Given the description of an element on the screen output the (x, y) to click on. 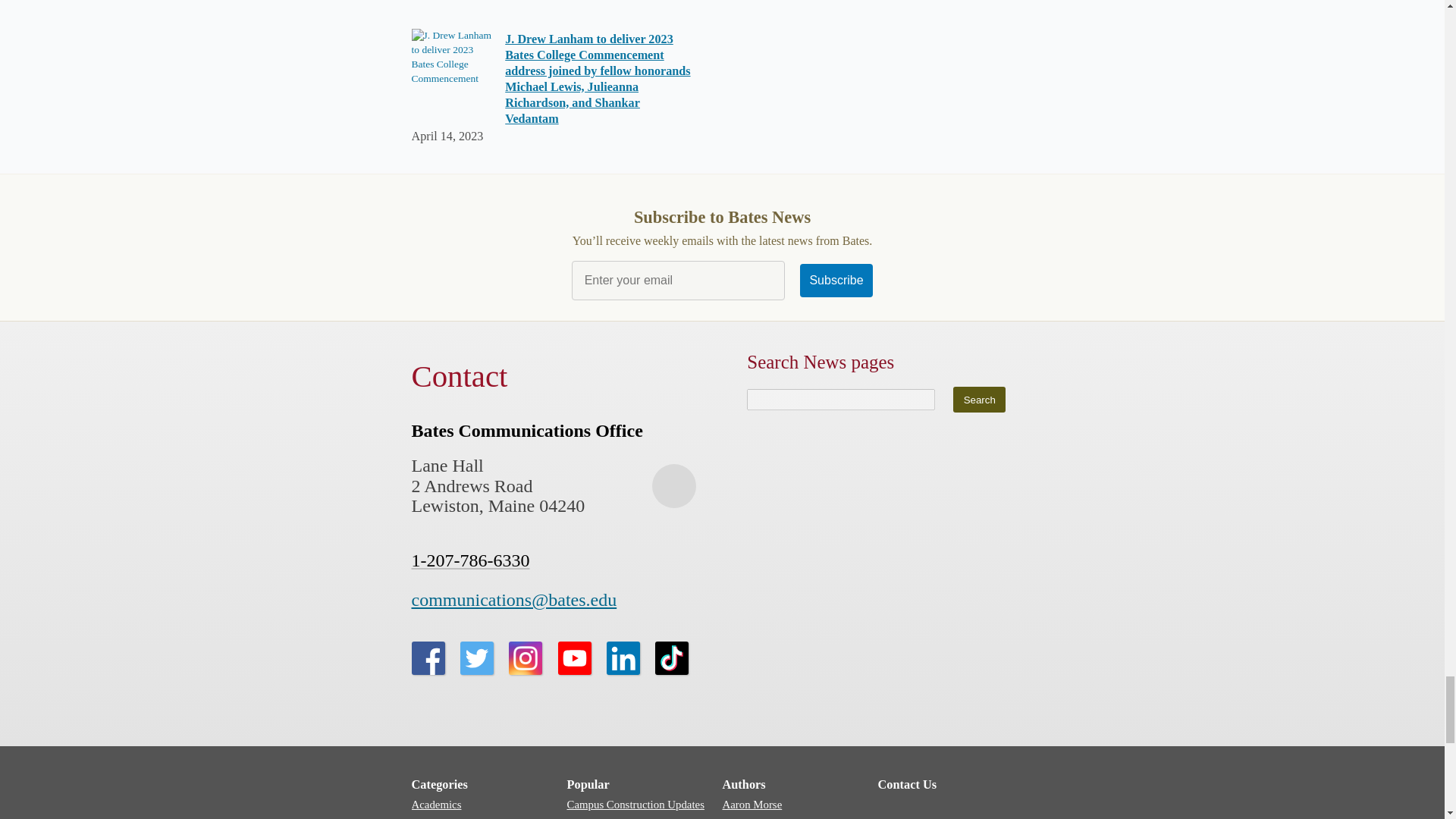
Link to Facebook (427, 657)
Subscribe (836, 280)
View on Campus Map (673, 485)
Link to Youtube (574, 657)
Link to Instagram (524, 657)
Link to Linkedin (623, 657)
Search (979, 399)
Link to Tiktok (671, 657)
Link to Twitter (476, 657)
